Given the description of an element on the screen output the (x, y) to click on. 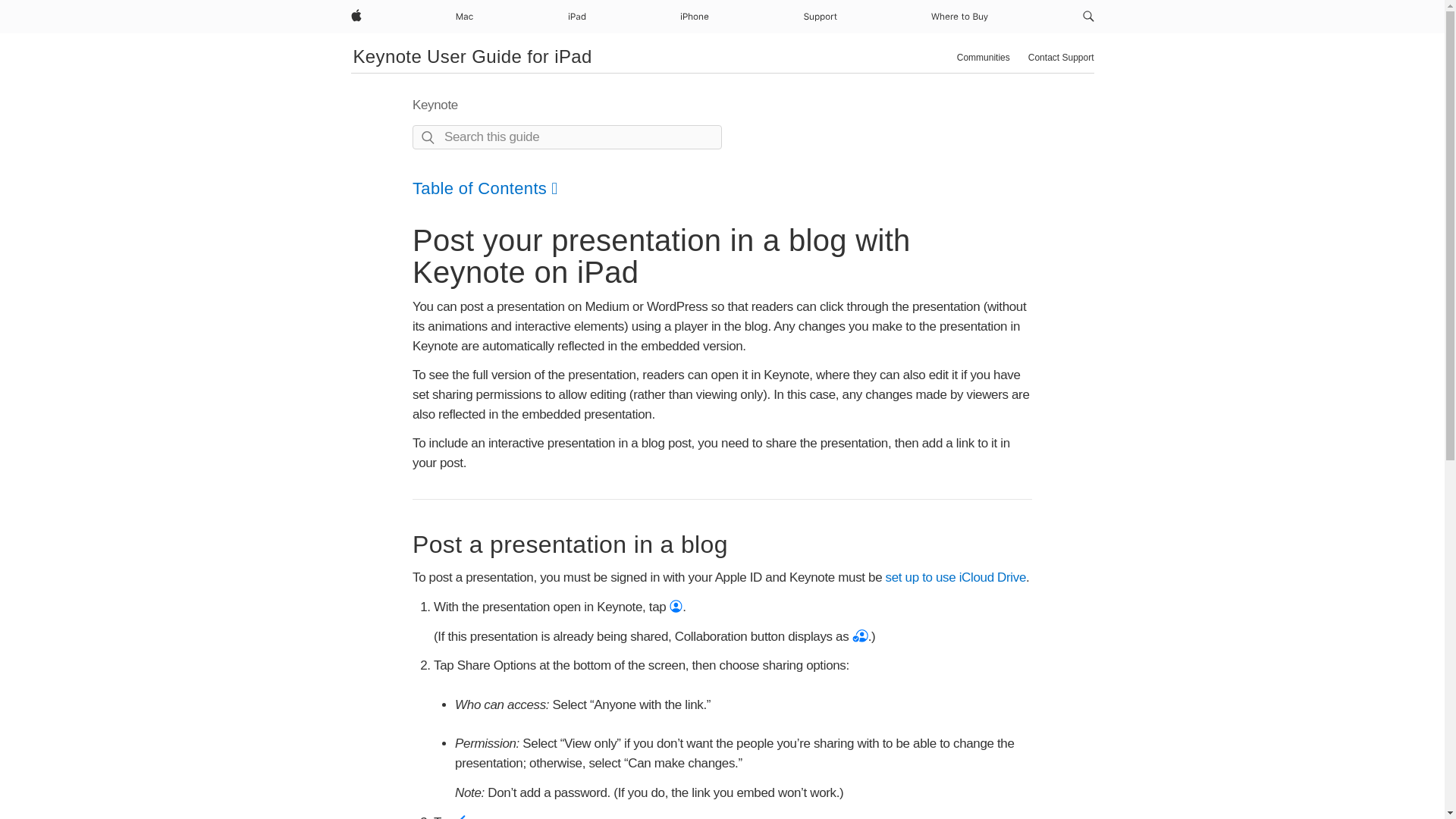
iPad (575, 16)
iPhone (694, 16)
Support (820, 16)
